Given the description of an element on the screen output the (x, y) to click on. 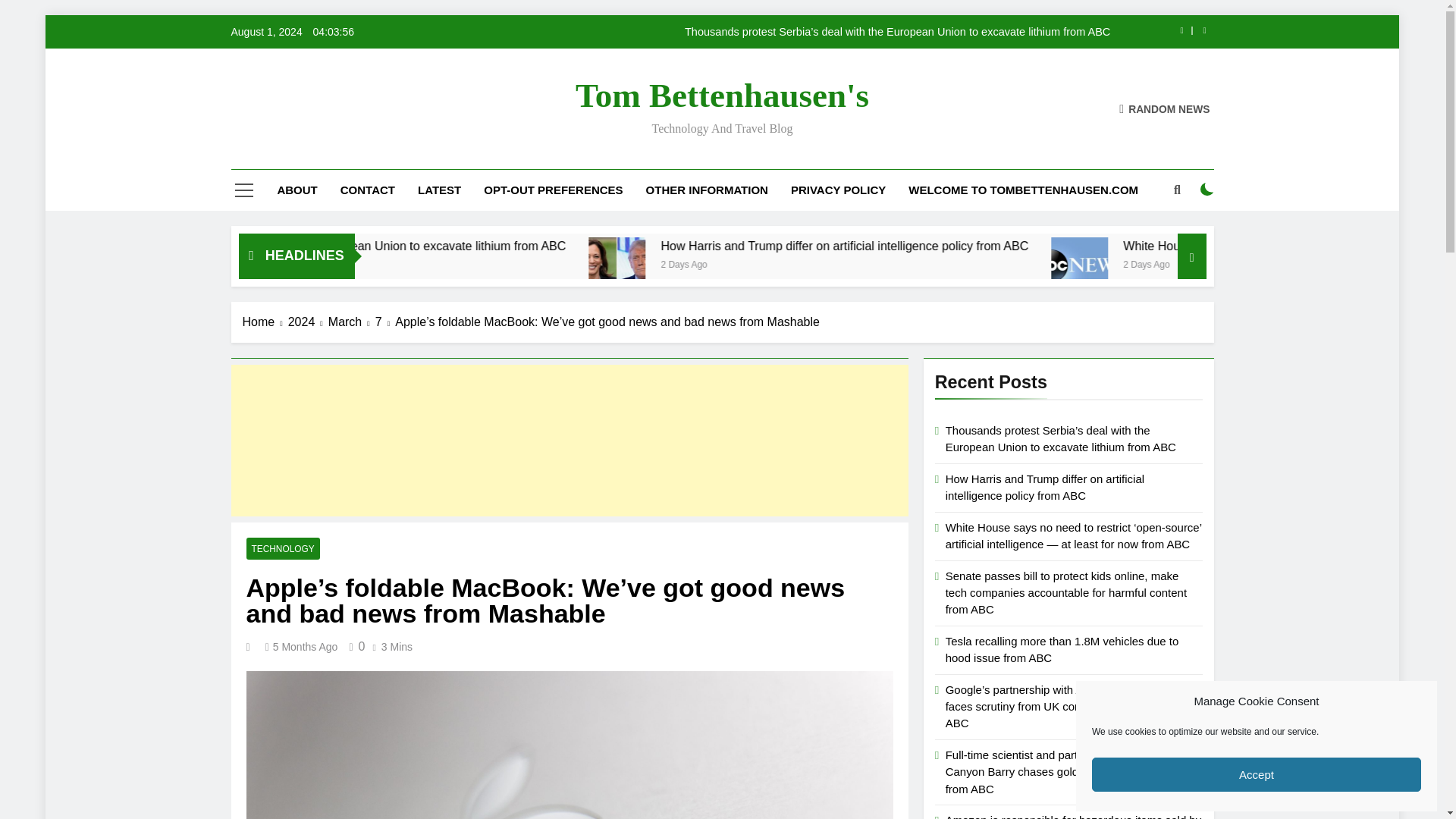
Accept (1256, 774)
WELCOME TO TOMBETTENHAUSEN.COM (1023, 189)
OPT-OUT PREFERENCES (552, 189)
on (1206, 189)
CONTACT (367, 189)
OTHER INFORMATION (706, 189)
Tom Bettenhausen'S (722, 95)
LATEST (438, 189)
